Given the description of an element on the screen output the (x, y) to click on. 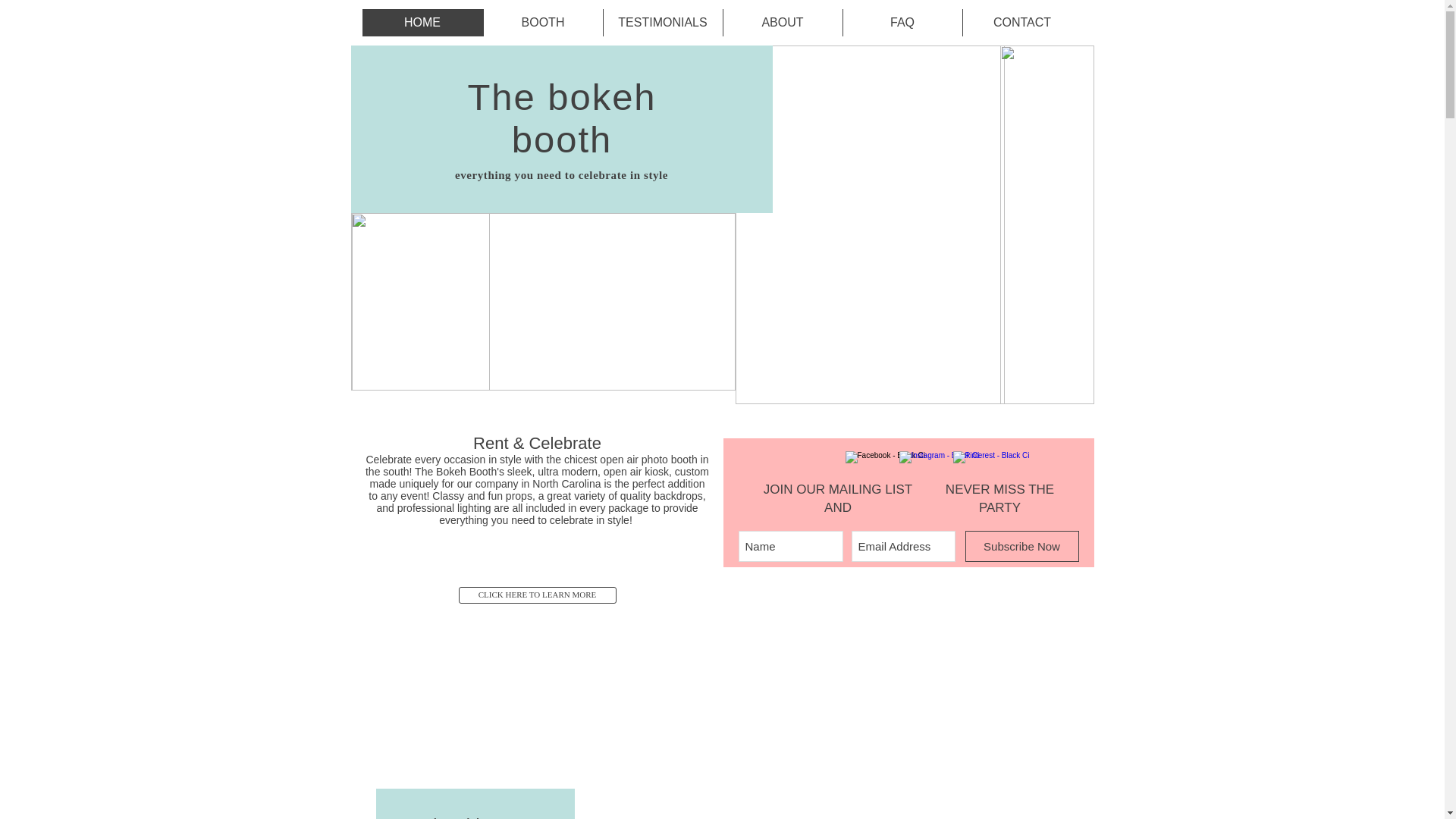
HOME (422, 22)
FAQ (900, 22)
ABOUT (781, 22)
Subscribe Now (1020, 545)
TESTIMONIALS (662, 22)
BOOTH (541, 22)
CONTACT (1020, 22)
Typography Poster Print (420, 301)
CLICK HERE TO LEARN MORE (536, 595)
